Given the description of an element on the screen output the (x, y) to click on. 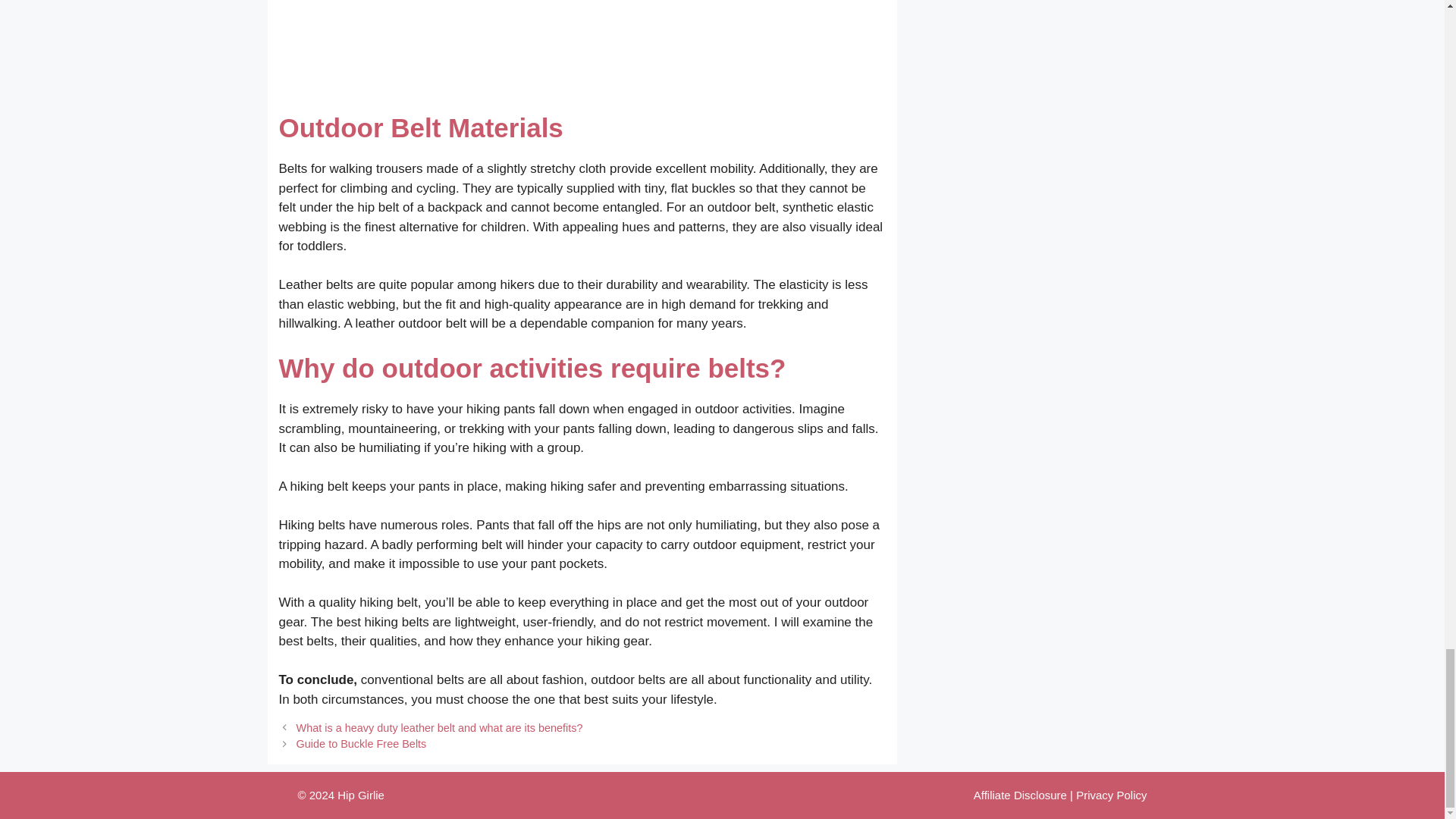
What is a heavy duty leather belt and what are its benefits? (440, 727)
Guide to Buckle Free Belts (361, 743)
